Given the description of an element on the screen output the (x, y) to click on. 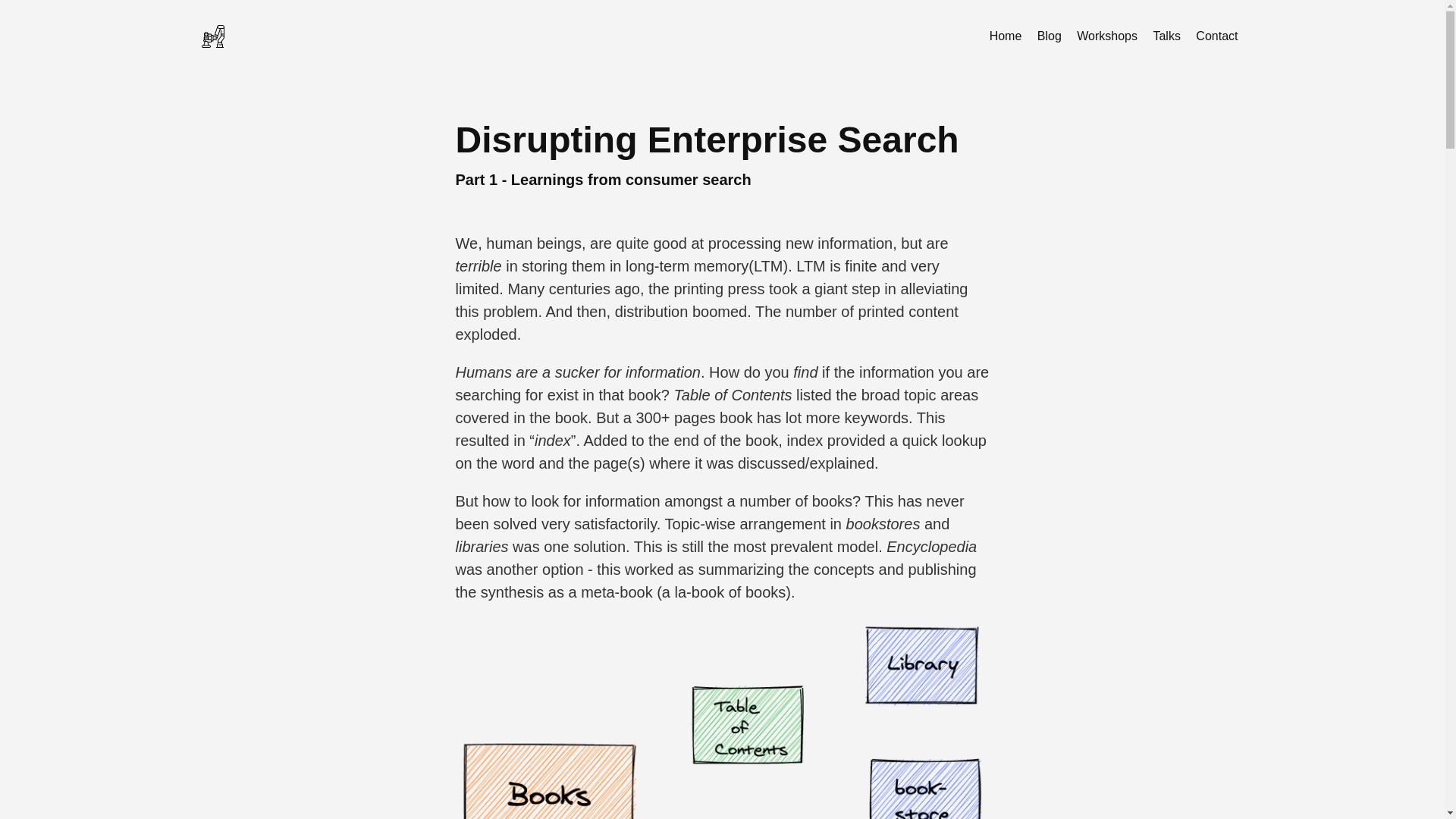
Contact Form (1216, 35)
Home (1005, 35)
Workshops (1106, 35)
Blog (1048, 35)
Home (372, 36)
Blog (1048, 35)
Home (1005, 35)
My Talks (1166, 35)
Talks (1166, 35)
Contact (1216, 35)
Workshop Page (1106, 35)
